Given the description of an element on the screen output the (x, y) to click on. 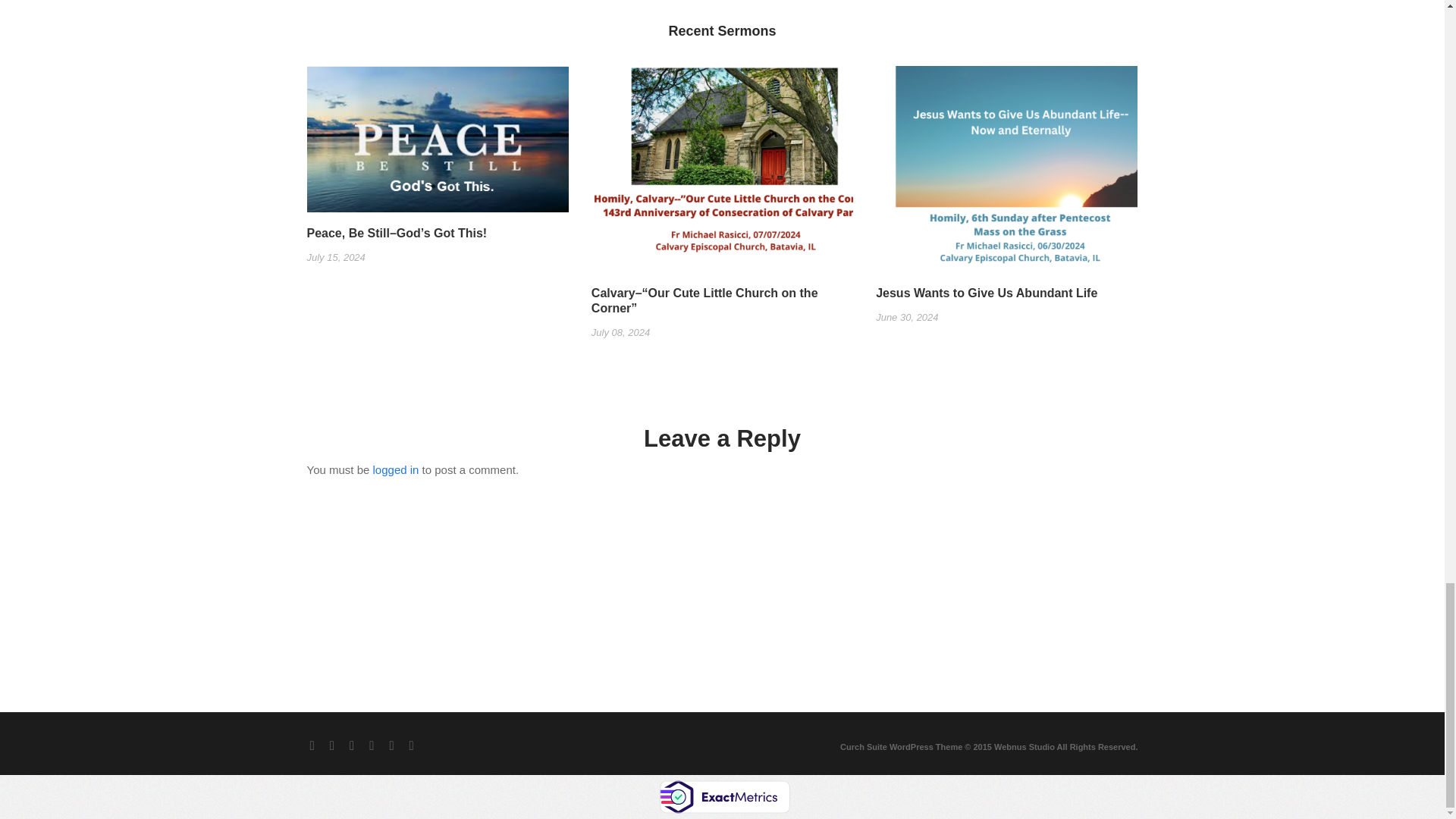
Jesus Wants to Give Us Abundant Life (1006, 174)
Calvary--"Our Cute Little Church on the Corner" (722, 174)
Peace, Be Still--God's Got This! (436, 145)
